Given the description of an element on the screen output the (x, y) to click on. 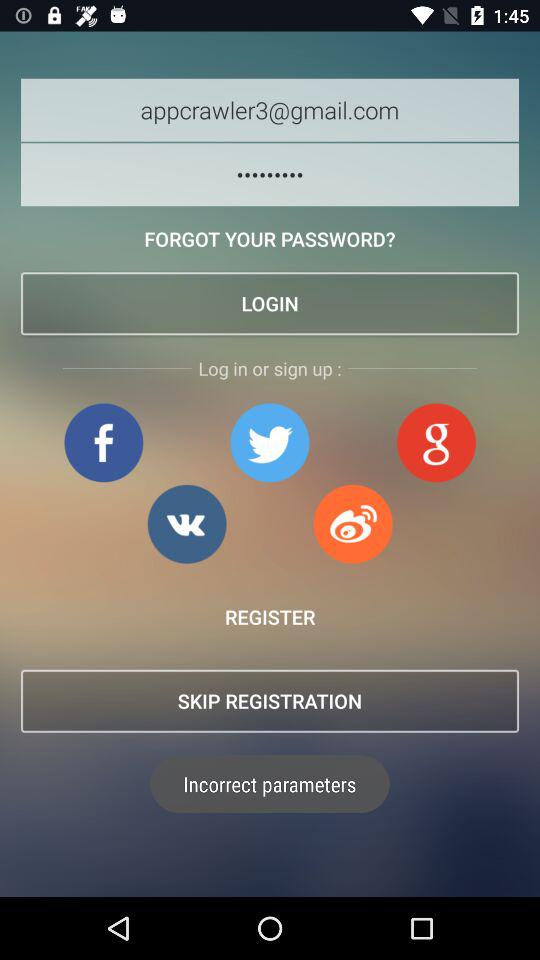
facebook (103, 442)
